Given the description of an element on the screen output the (x, y) to click on. 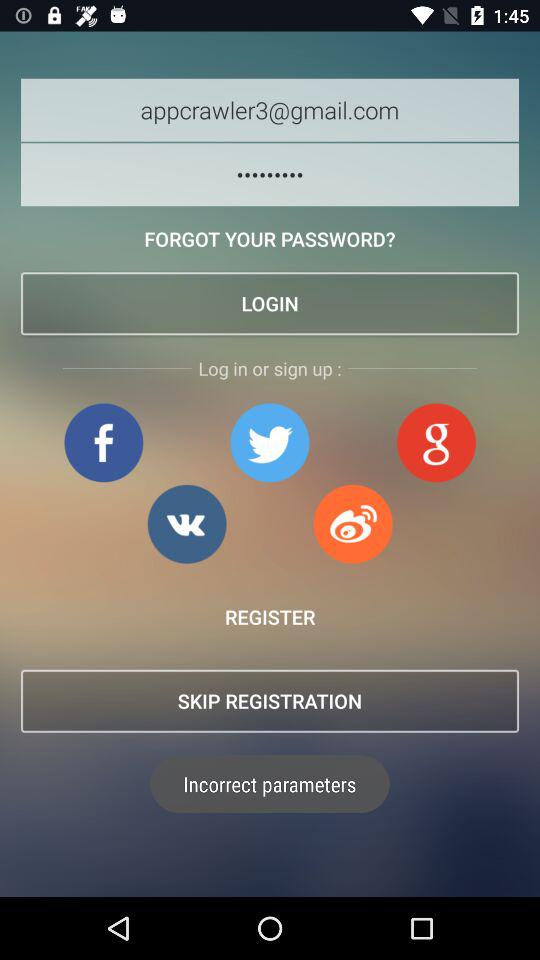
facebook (103, 442)
